Given the description of an element on the screen output the (x, y) to click on. 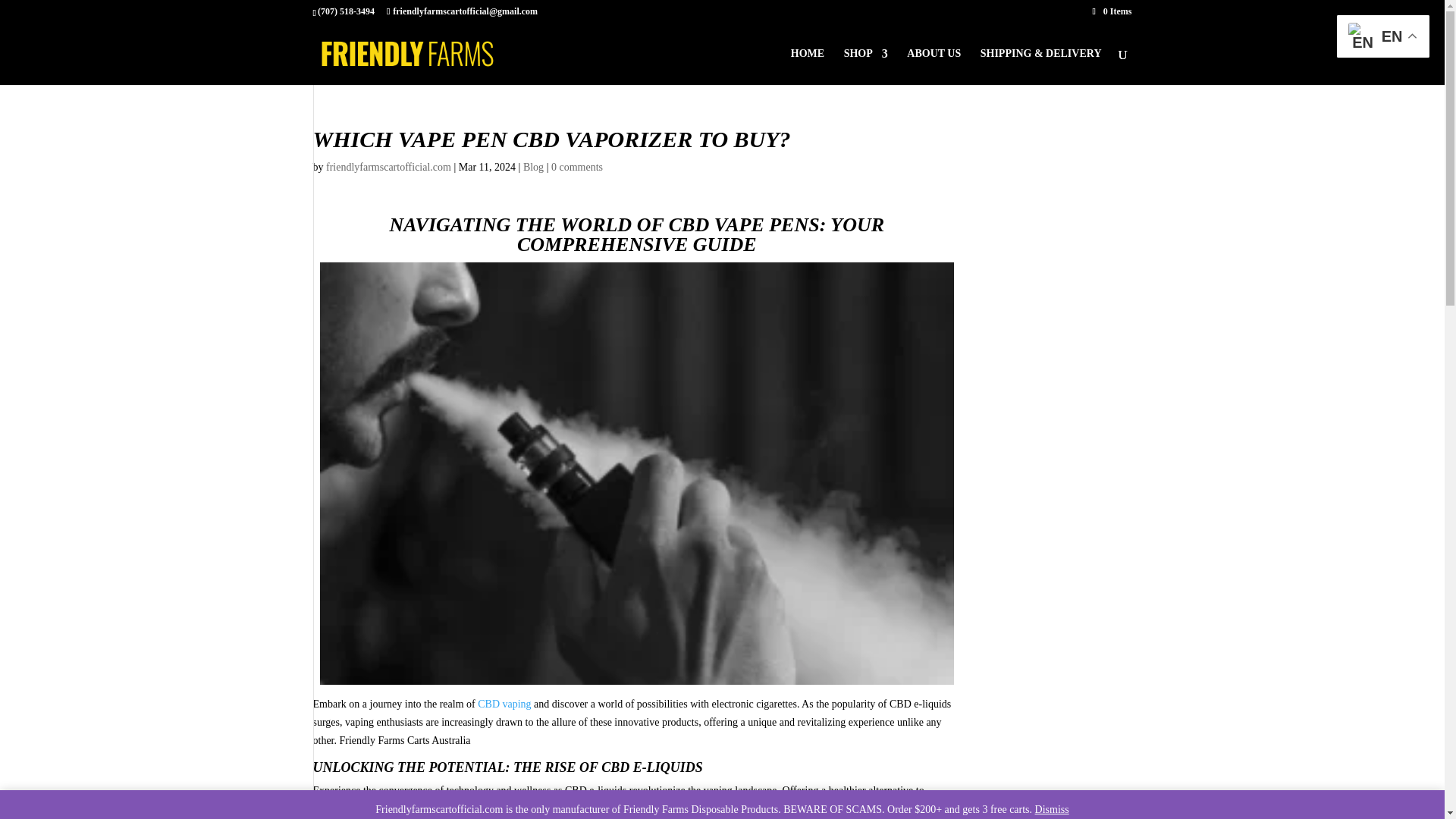
Posts by friendlyfarmscartofficial.com (388, 166)
SHOP (866, 66)
0 Items (1111, 10)
0 comments (576, 166)
HOME (807, 66)
friendlyfarmscartofficial.com (388, 166)
CBD vaping (504, 704)
ABOUT US (933, 66)
Blog (532, 166)
